Given the description of an element on the screen output the (x, y) to click on. 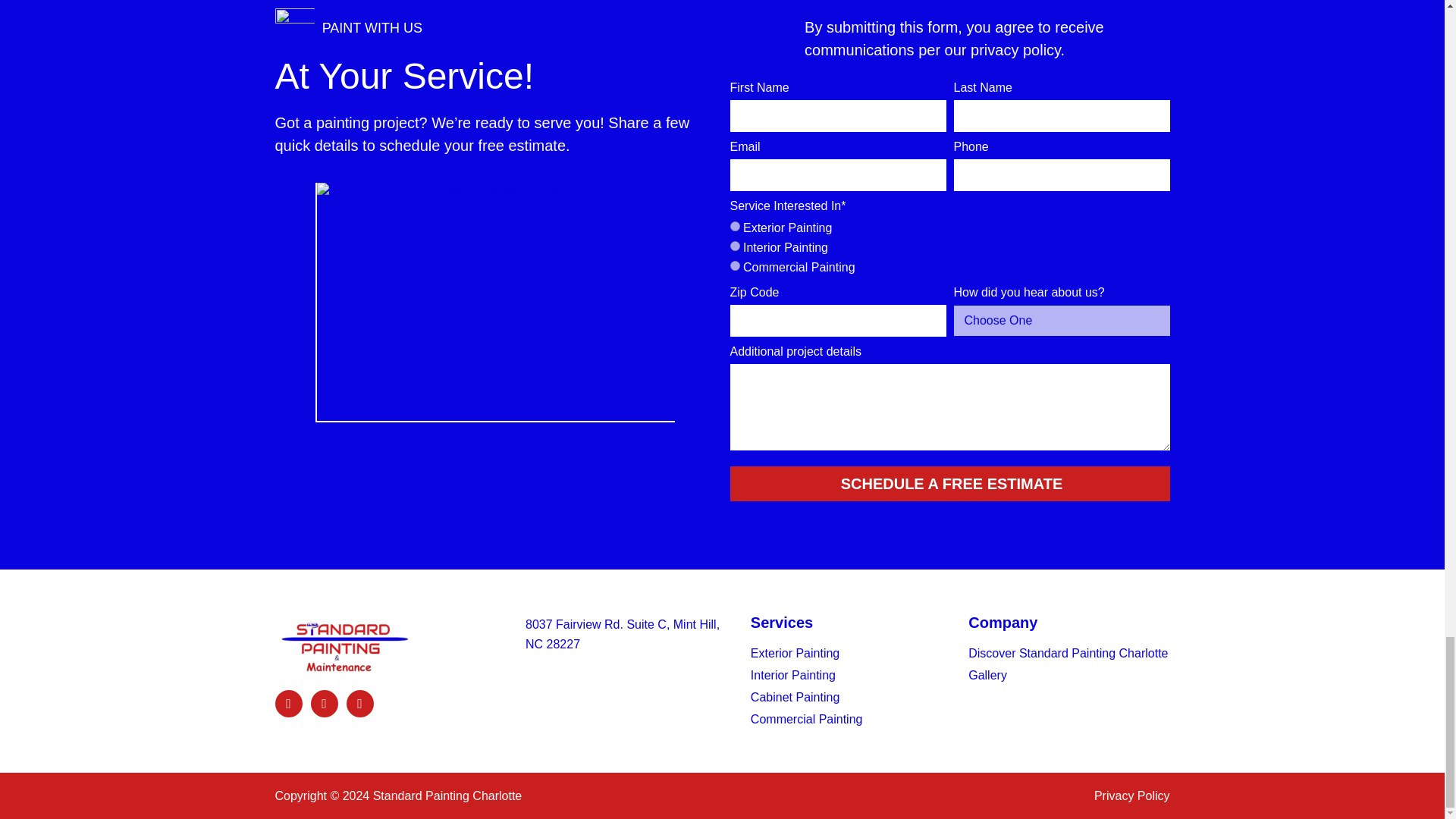
Interior Painting (734, 245)
Commercial Painting (734, 266)
Exterior Painting (734, 225)
